Given the description of an element on the screen output the (x, y) to click on. 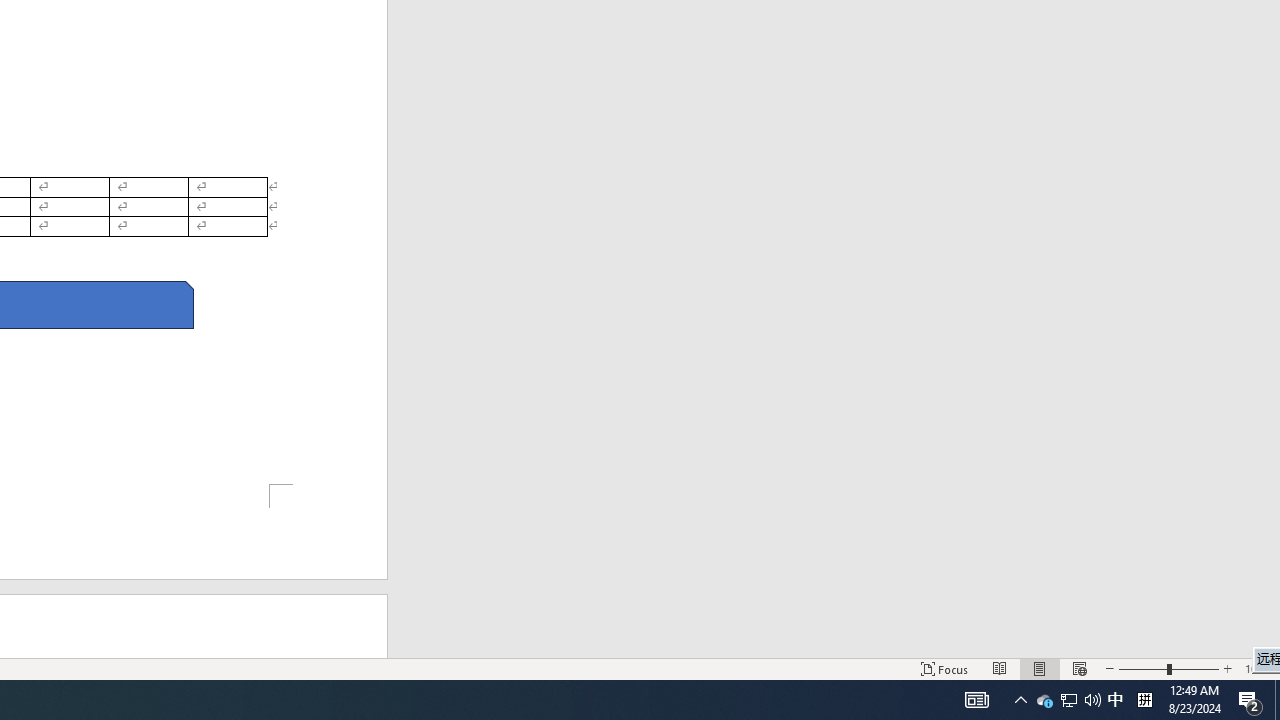
Zoom 100% (1258, 668)
